Given the description of an element on the screen output the (x, y) to click on. 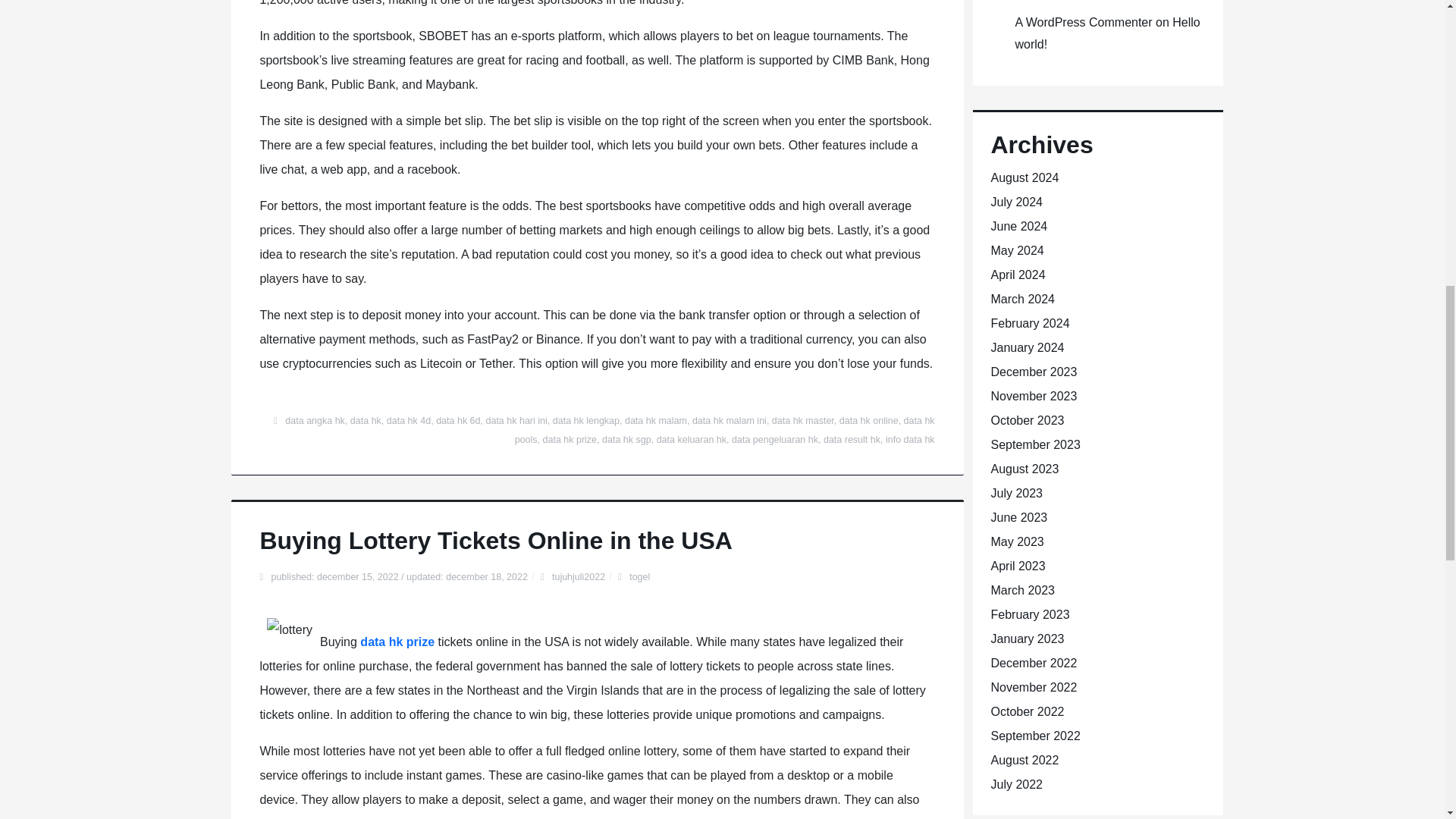
data hk sgp (626, 439)
togel (638, 576)
data hk malam ini (730, 420)
data hk 6d (457, 420)
Buying Lottery Tickets Online in the USA (495, 540)
data hk prize (396, 641)
data angka hk (315, 420)
info data hk (909, 439)
tujuhjuli2022 (578, 576)
data hk hari ini (515, 420)
